Given the description of an element on the screen output the (x, y) to click on. 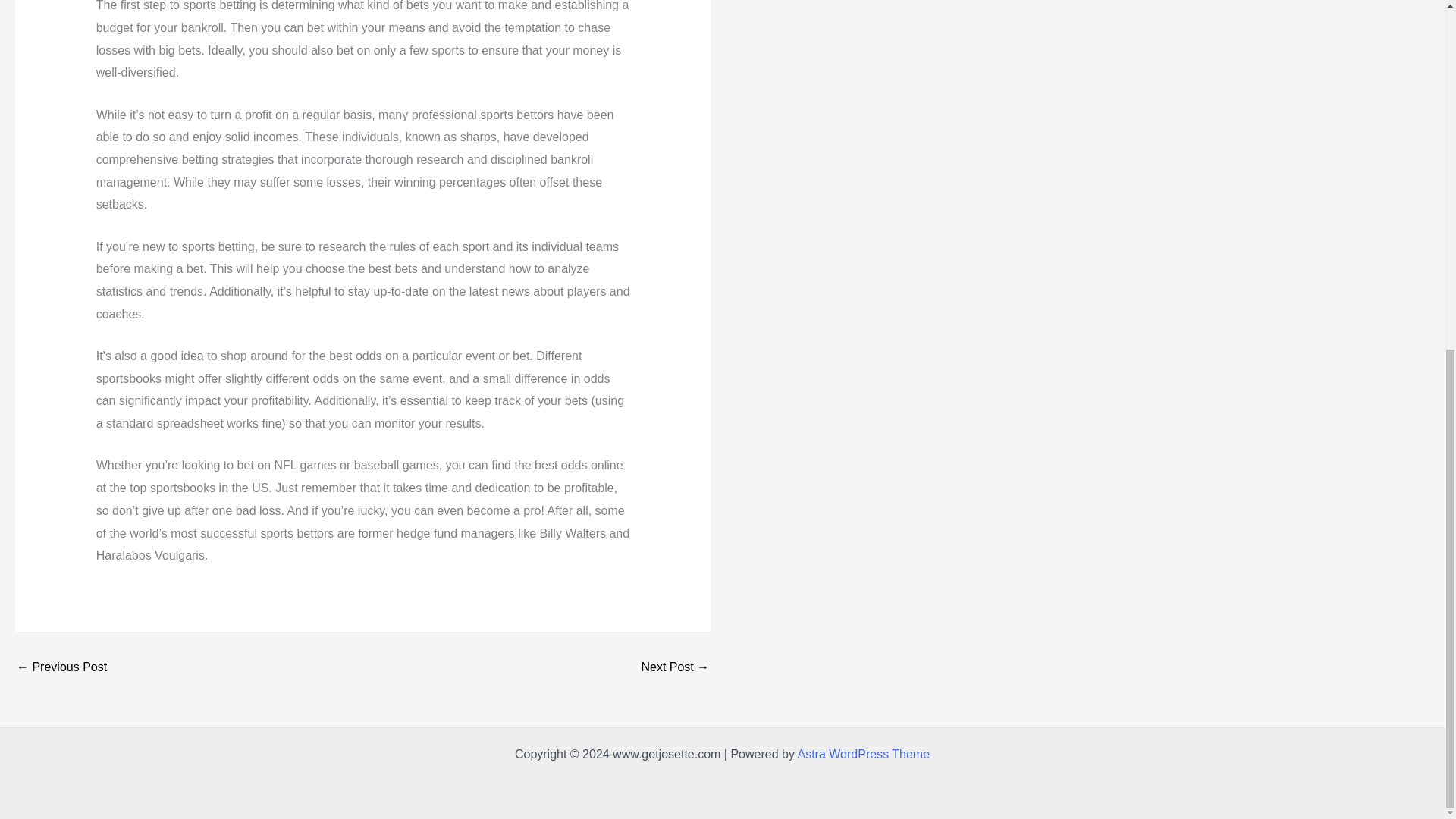
The Importance of Law New (61, 666)
The Positive Impacts of Gambling (674, 666)
Astra WordPress Theme (863, 753)
